Given the description of an element on the screen output the (x, y) to click on. 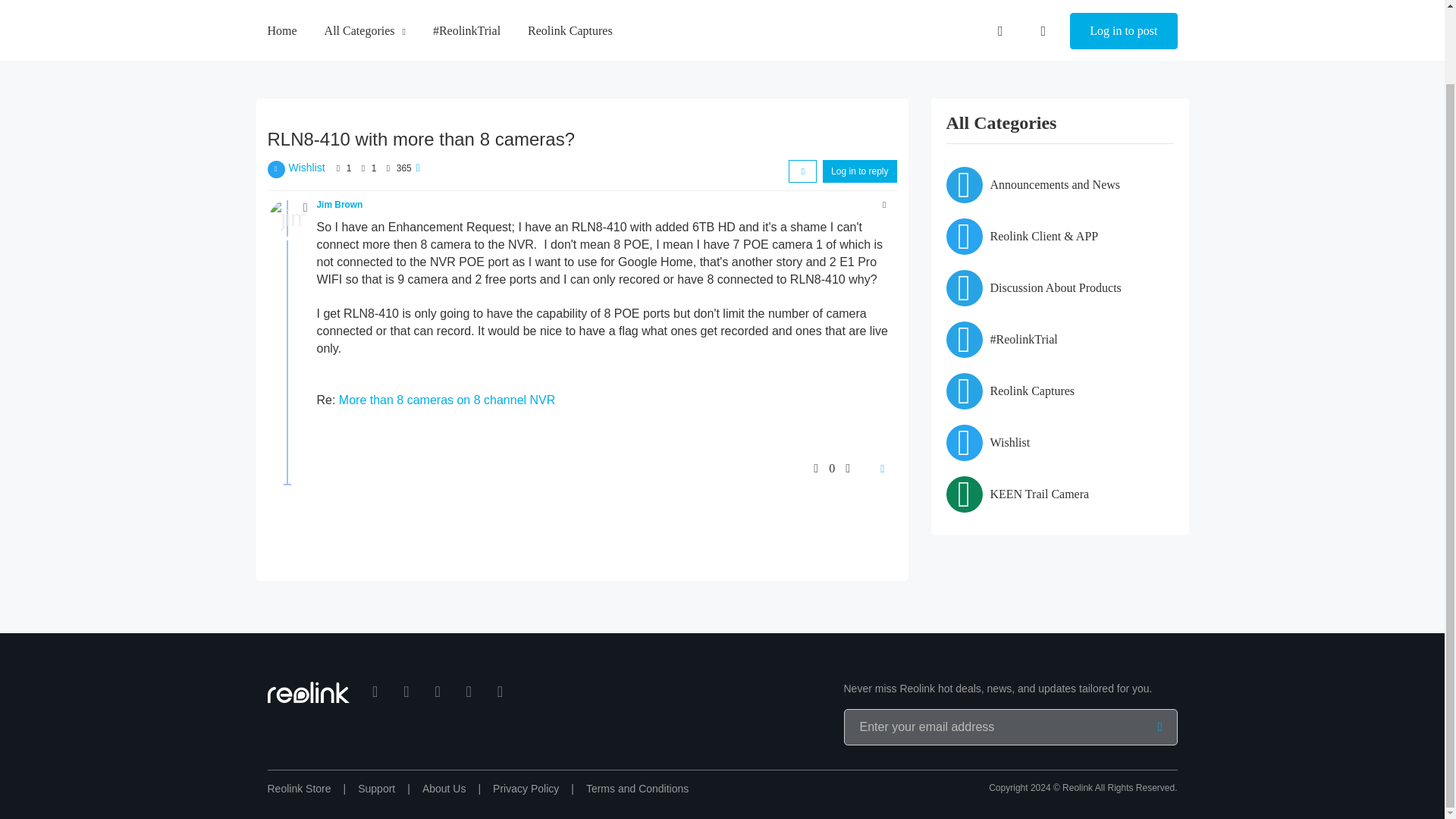
Views (387, 167)
365 (404, 167)
Sort by (802, 170)
Log in to post (1123, 5)
Posters (338, 167)
Log in to reply (859, 170)
Posts (362, 167)
Jim Brown (339, 204)
jimbrown.net (285, 217)
More than 8 cameras on 8 channel NVR (446, 399)
Wishlist (306, 167)
